Given the description of an element on the screen output the (x, y) to click on. 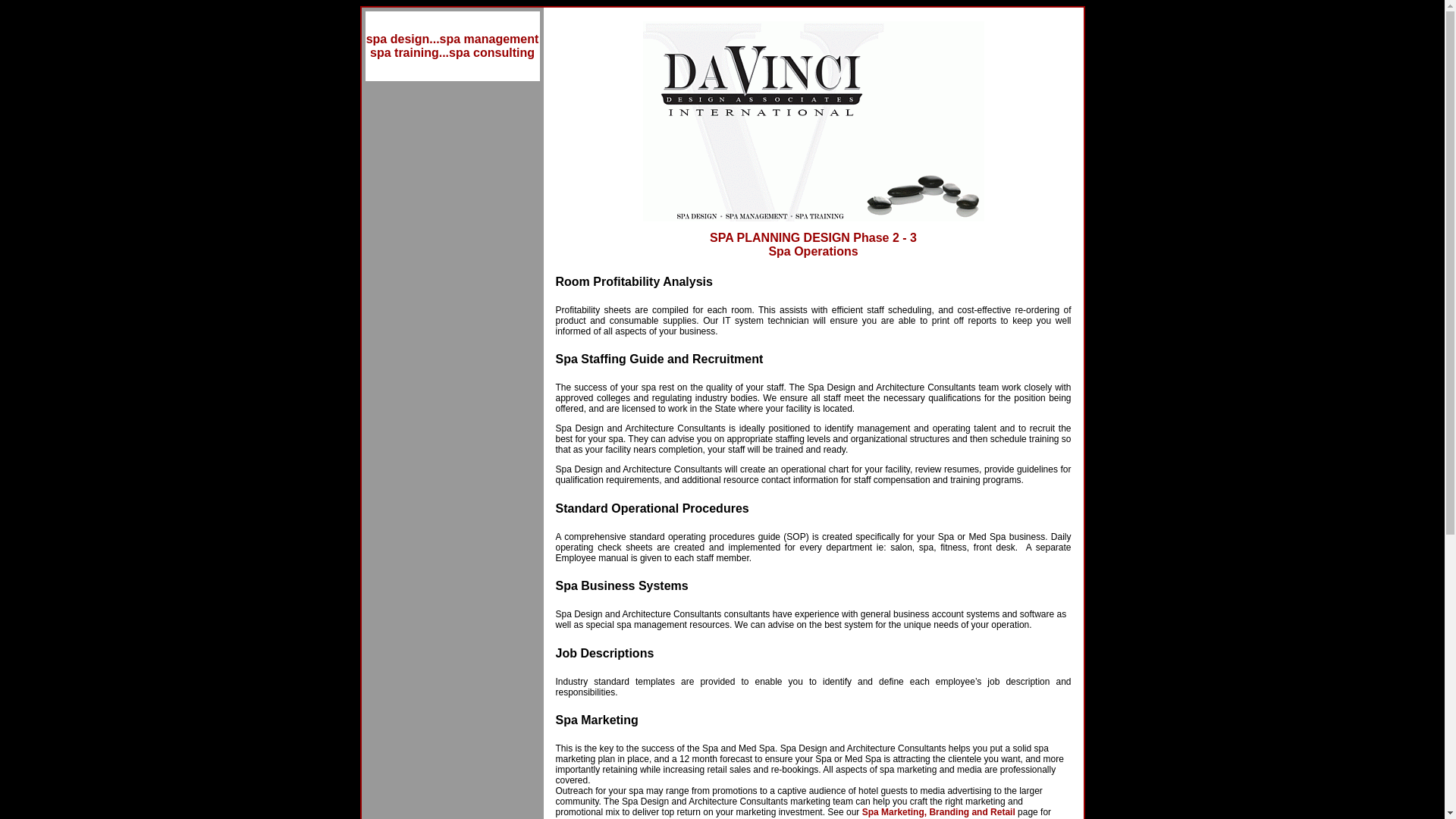
Spa Marketing, Branding and Retail (937, 811)
Spa Design - Spa Management - Spa Training (452, 45)
